Given the description of an element on the screen output the (x, y) to click on. 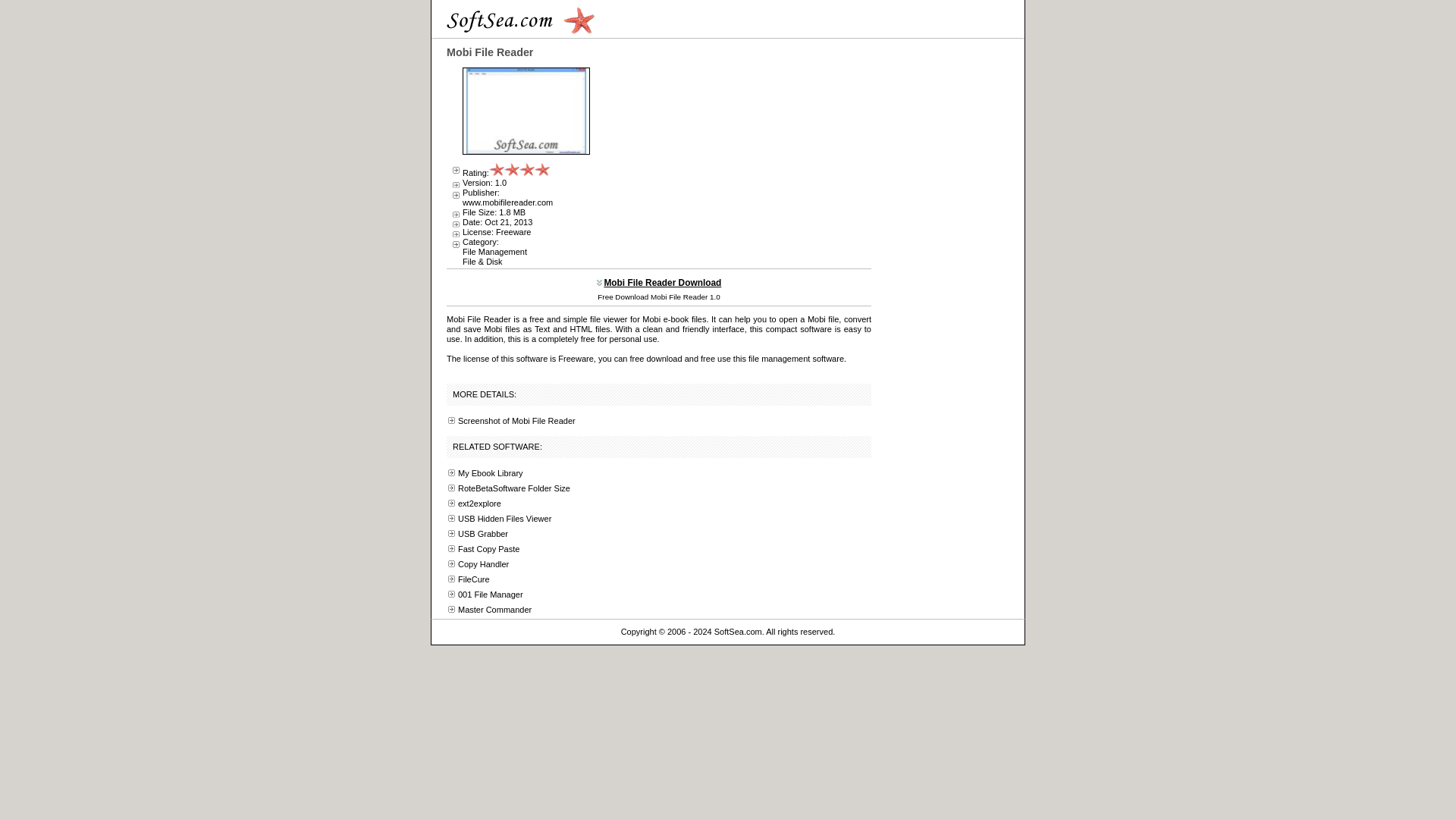
Master Commander (494, 609)
Mobi File Reader Download (662, 282)
Fast Copy Paste (488, 548)
ext2explore (479, 502)
Screenshot of Mobi File Reader (516, 420)
USB Grabber (483, 533)
Advertisement (732, 152)
USB Hidden Files Viewer (504, 518)
My Ebook Library (490, 472)
FileCure (473, 578)
